Given the description of an element on the screen output the (x, y) to click on. 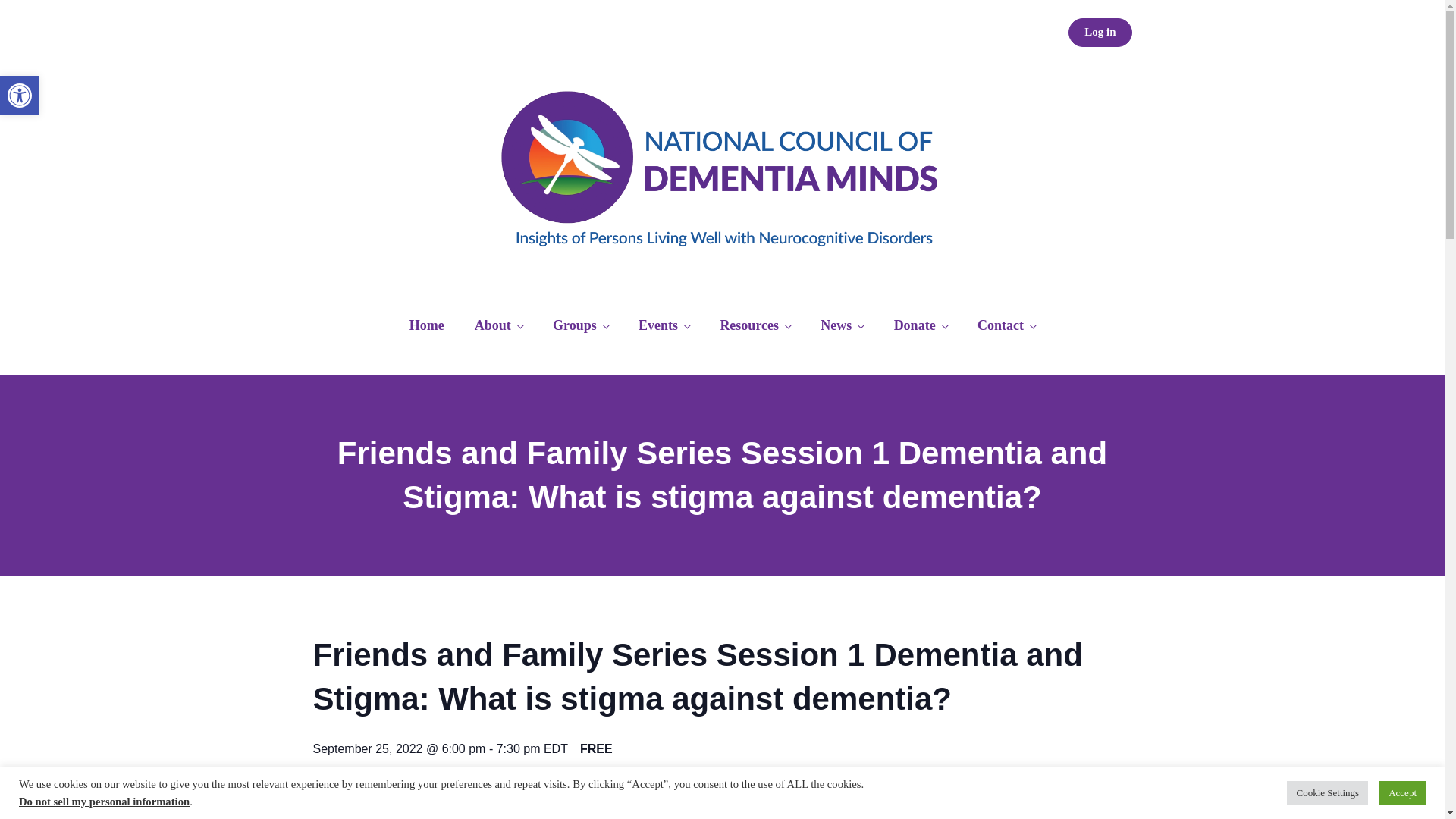
Resources (754, 325)
Groups (580, 325)
Accessibility Tools (19, 95)
Home (427, 325)
Accessibility Tools (19, 95)
